Given the description of an element on the screen output the (x, y) to click on. 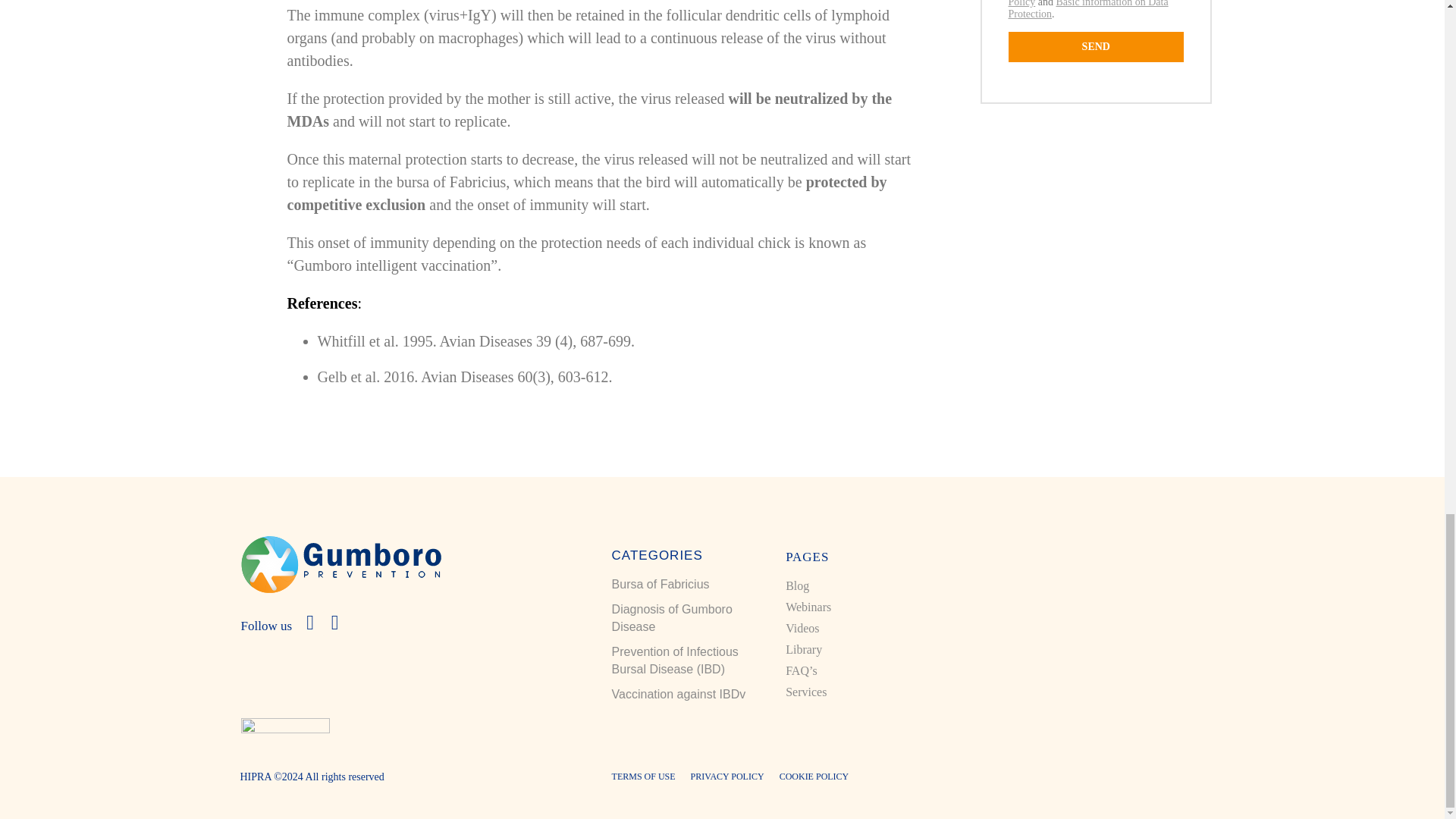
Bursa of Fabricius (660, 584)
Library (804, 649)
Services (806, 691)
SEND (1097, 46)
SEND (1097, 46)
Videos (802, 627)
Blog (797, 585)
Vaccination against IBDv (678, 694)
